Given the description of an element on the screen output the (x, y) to click on. 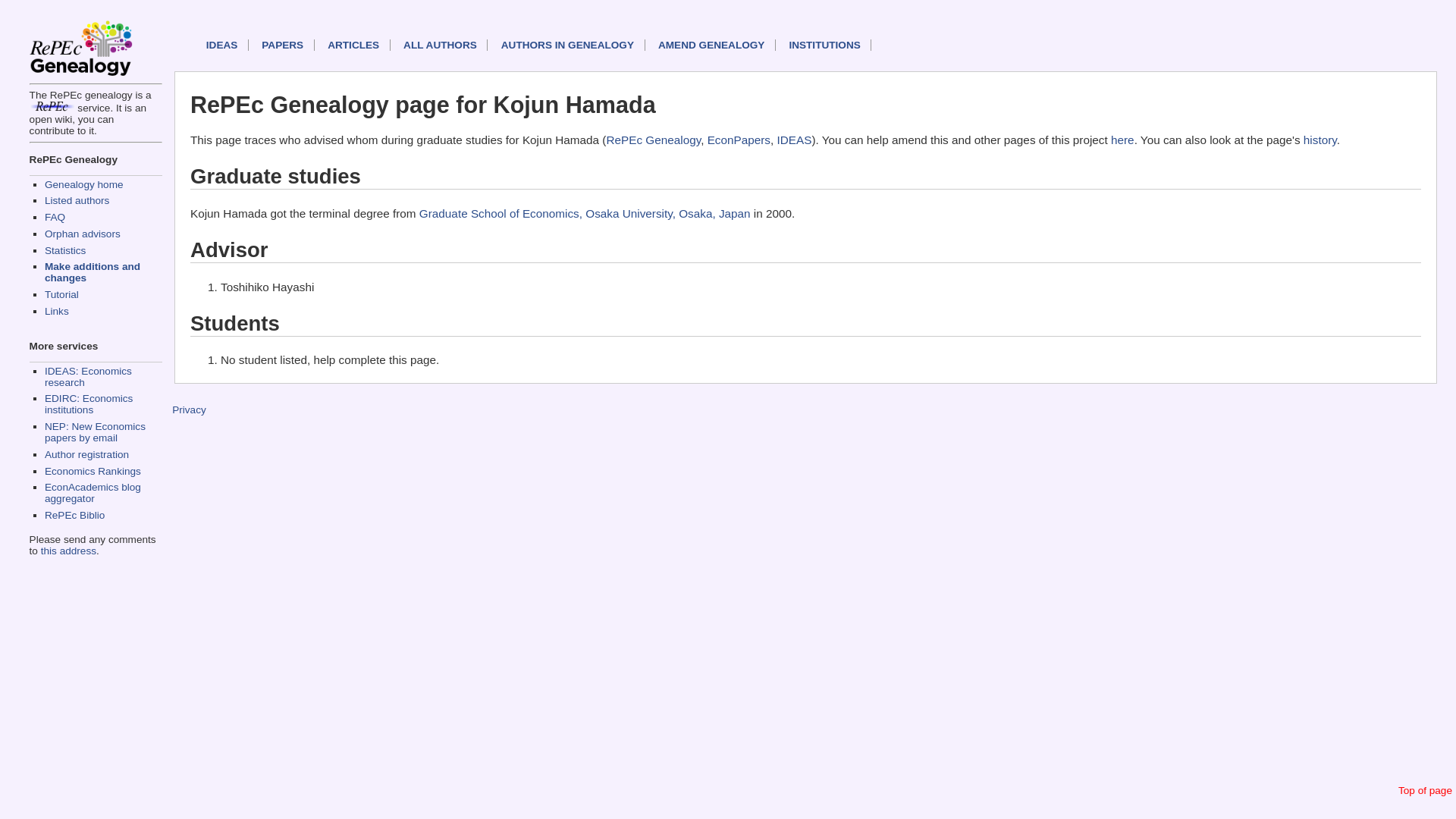
RePEc Genealogy (652, 139)
AMEND GENEALOGY (717, 44)
Listed authors (77, 200)
NEP: New Economics papers by email (95, 431)
EconAcademics blog aggregator (93, 492)
IDEAS (794, 139)
EconPapers (738, 139)
Author registration (87, 454)
ALL AUTHORS (445, 44)
Economics Rankings (93, 471)
